Given the description of an element on the screen output the (x, y) to click on. 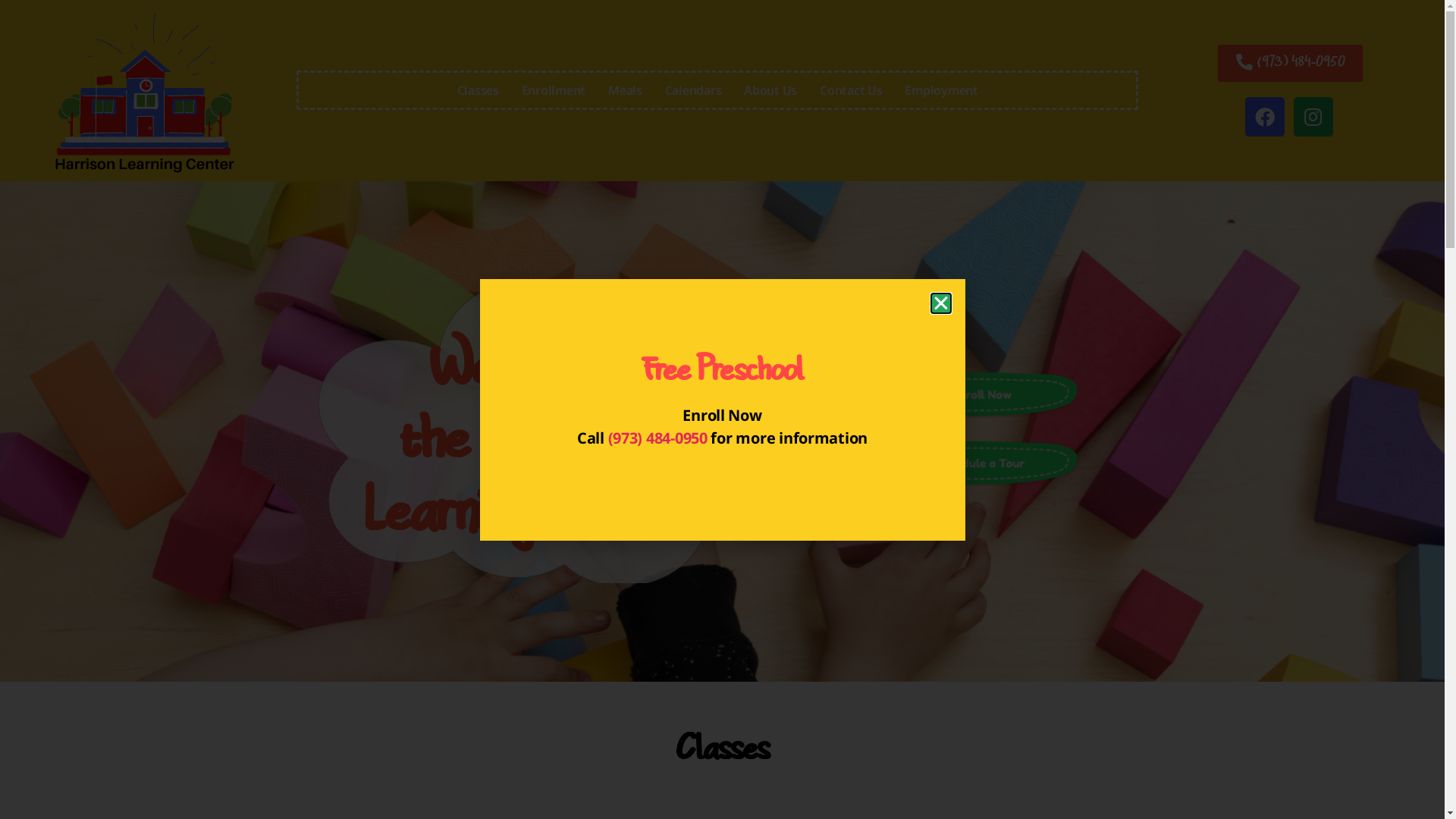
(973) 484-0950 Element type: text (1289, 62)
Employment Element type: text (940, 89)
Meals Element type: text (624, 89)
About Us Element type: text (770, 89)
Enrollment Element type: text (553, 89)
Classes Element type: text (477, 89)
(973) 484-0950 Element type: text (657, 437)
Contact Us Element type: text (850, 89)
Calendars Element type: text (693, 89)
